Given the description of an element on the screen output the (x, y) to click on. 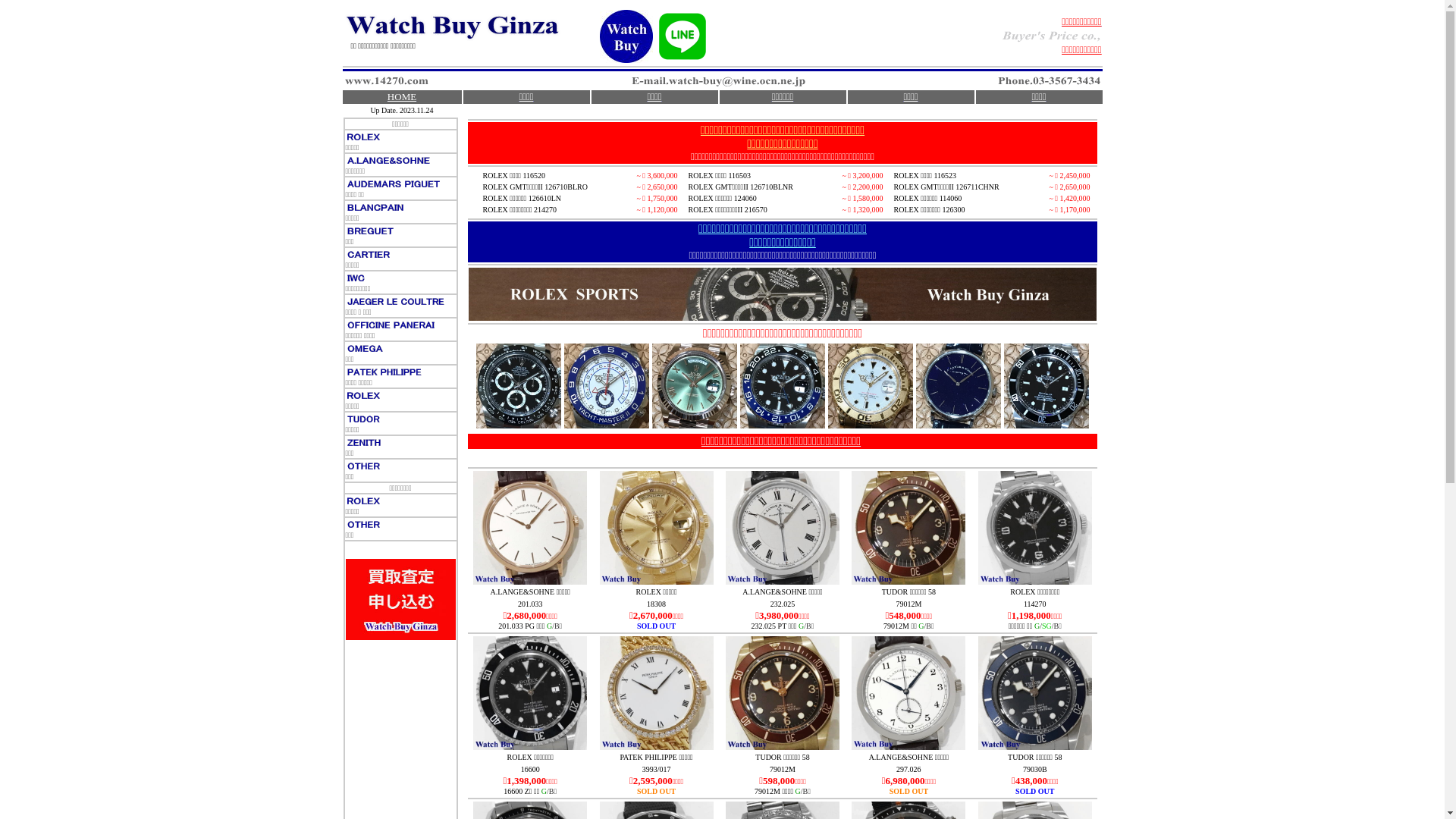
HOME Element type: text (401, 95)
